Given the description of an element on the screen output the (x, y) to click on. 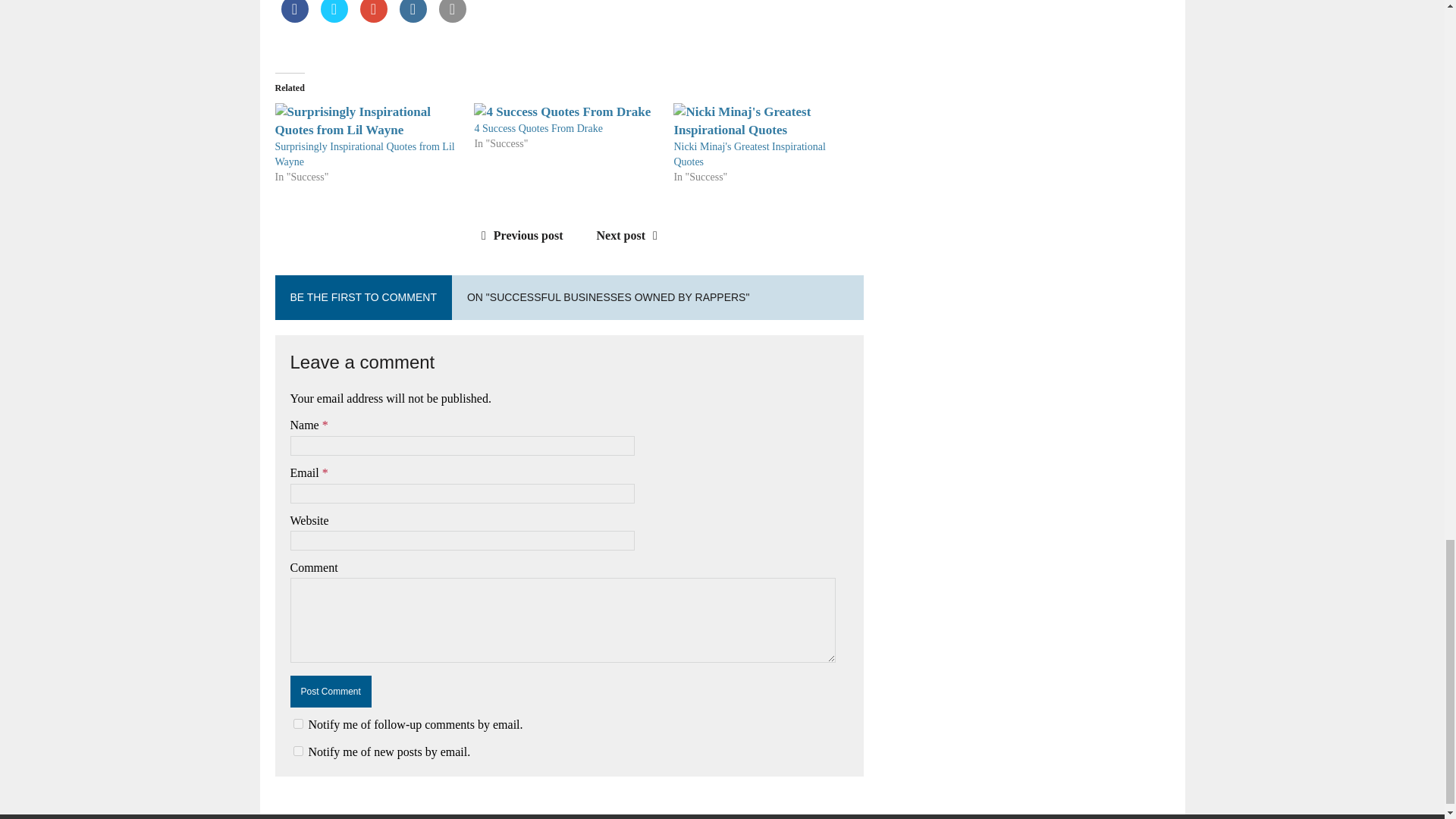
subscribe (297, 750)
Post Comment (330, 691)
Nicki Minaj's Greatest Inspirational Quotes (748, 153)
Surprisingly Inspirational Quotes from Lil Wayne (364, 153)
subscribe (297, 723)
4 Success Quotes From Drake (538, 128)
Post Comment (330, 691)
Next post (630, 235)
Previous post (518, 235)
